Given the description of an element on the screen output the (x, y) to click on. 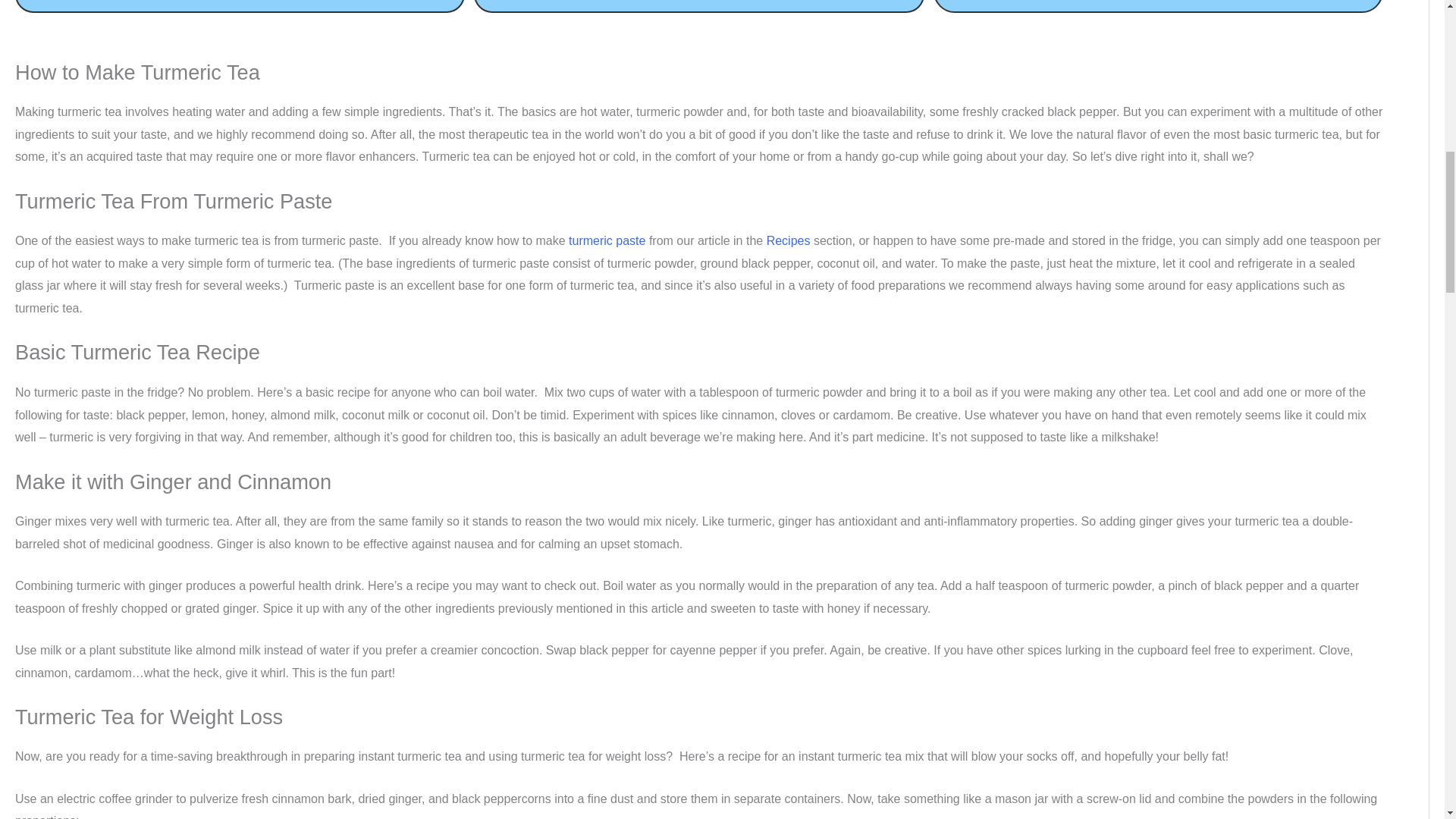
TurmericSupplements (239, 6)
TurmericPowders (698, 6)
turmeric paste (607, 240)
Recipes (788, 240)
Turmeric Liquids (1158, 6)
